Given the description of an element on the screen output the (x, y) to click on. 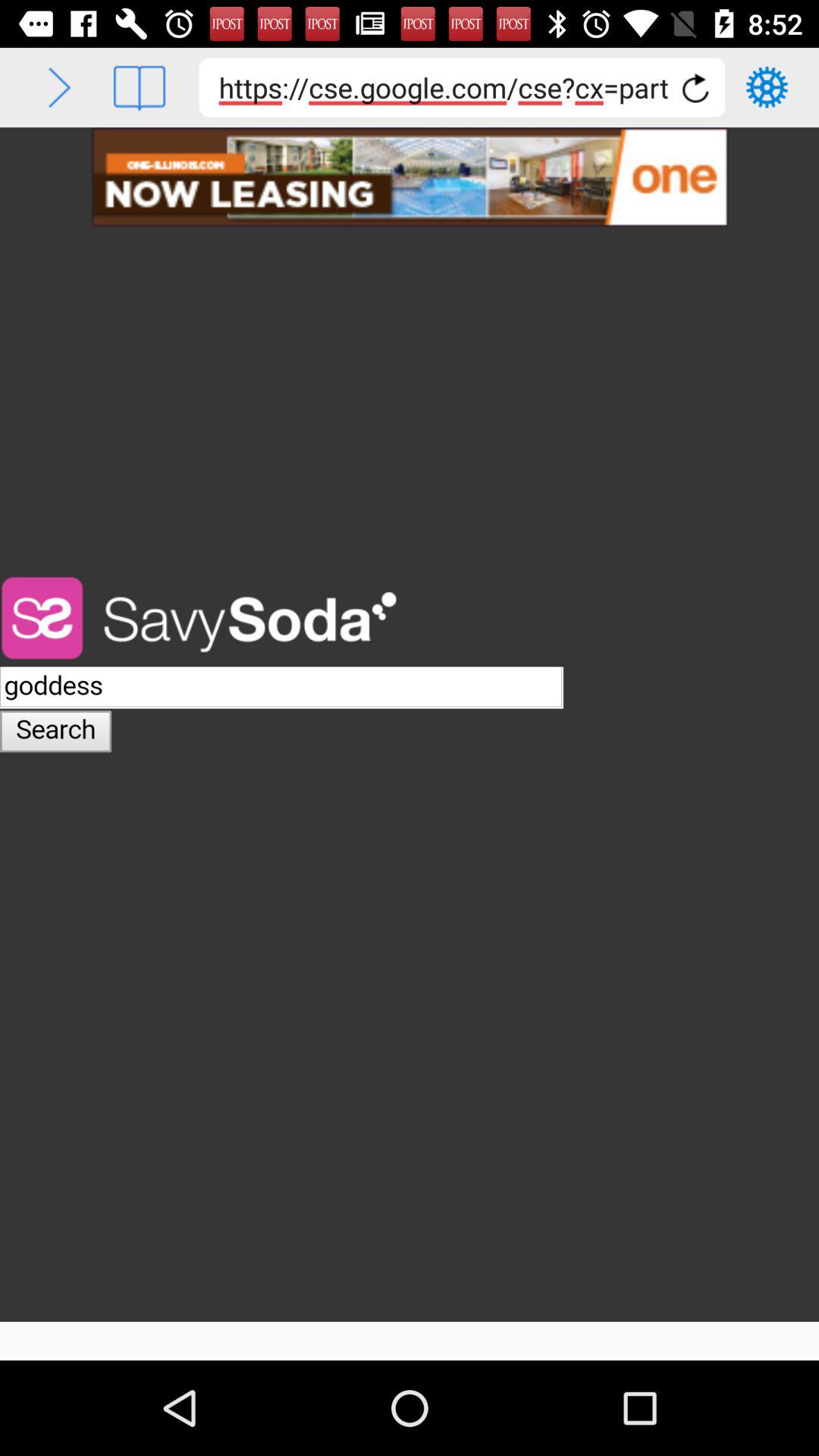
full screen reading mode (139, 87)
